Given the description of an element on the screen output the (x, y) to click on. 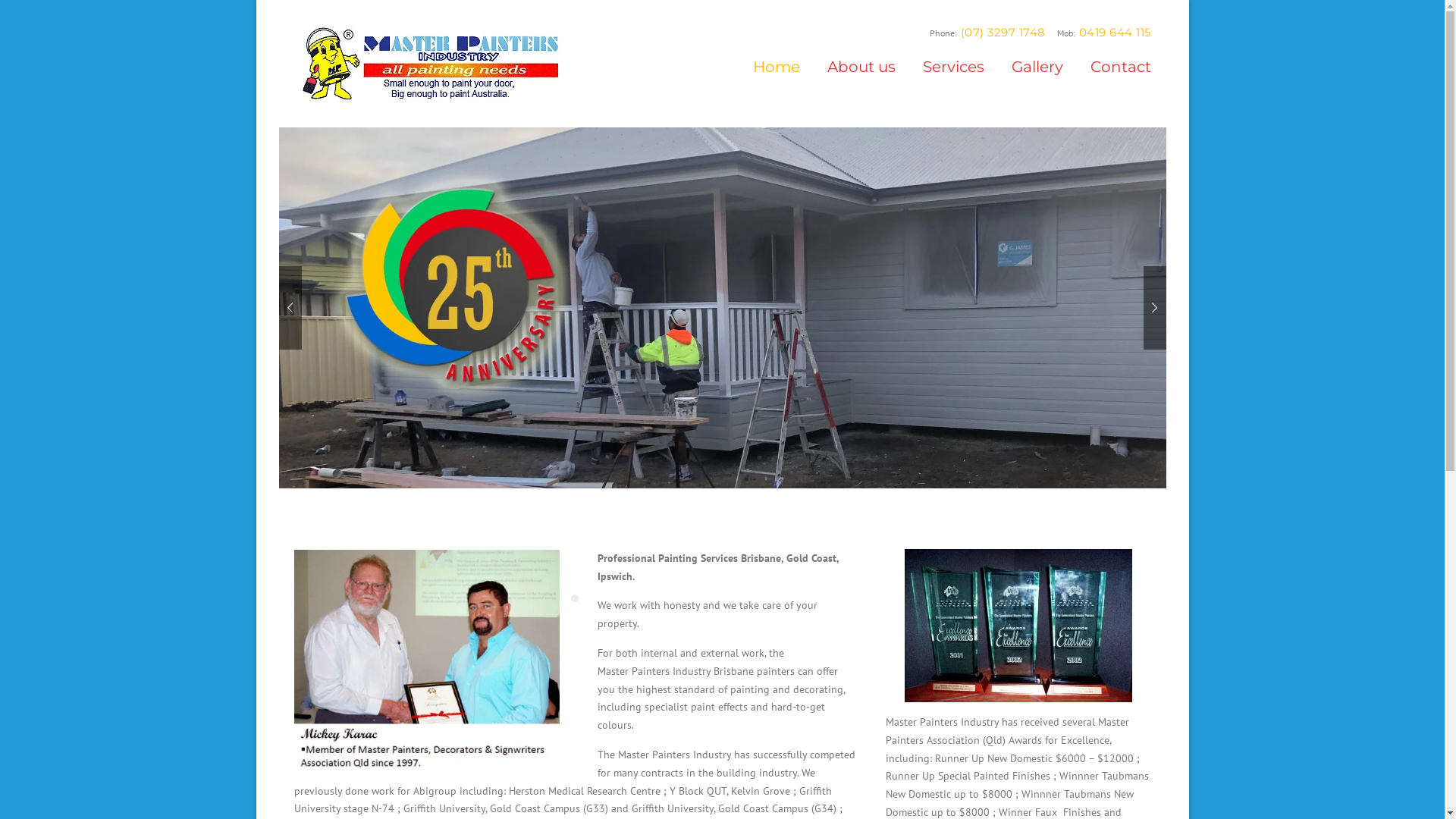
Master Painters Industry Element type: hover (429, 62)
Contact Element type: text (1113, 77)
About us Element type: text (860, 77)
Gallery Element type: text (1036, 77)
Home Element type: text (775, 77)
Services Element type: text (952, 77)
